Given the description of an element on the screen output the (x, y) to click on. 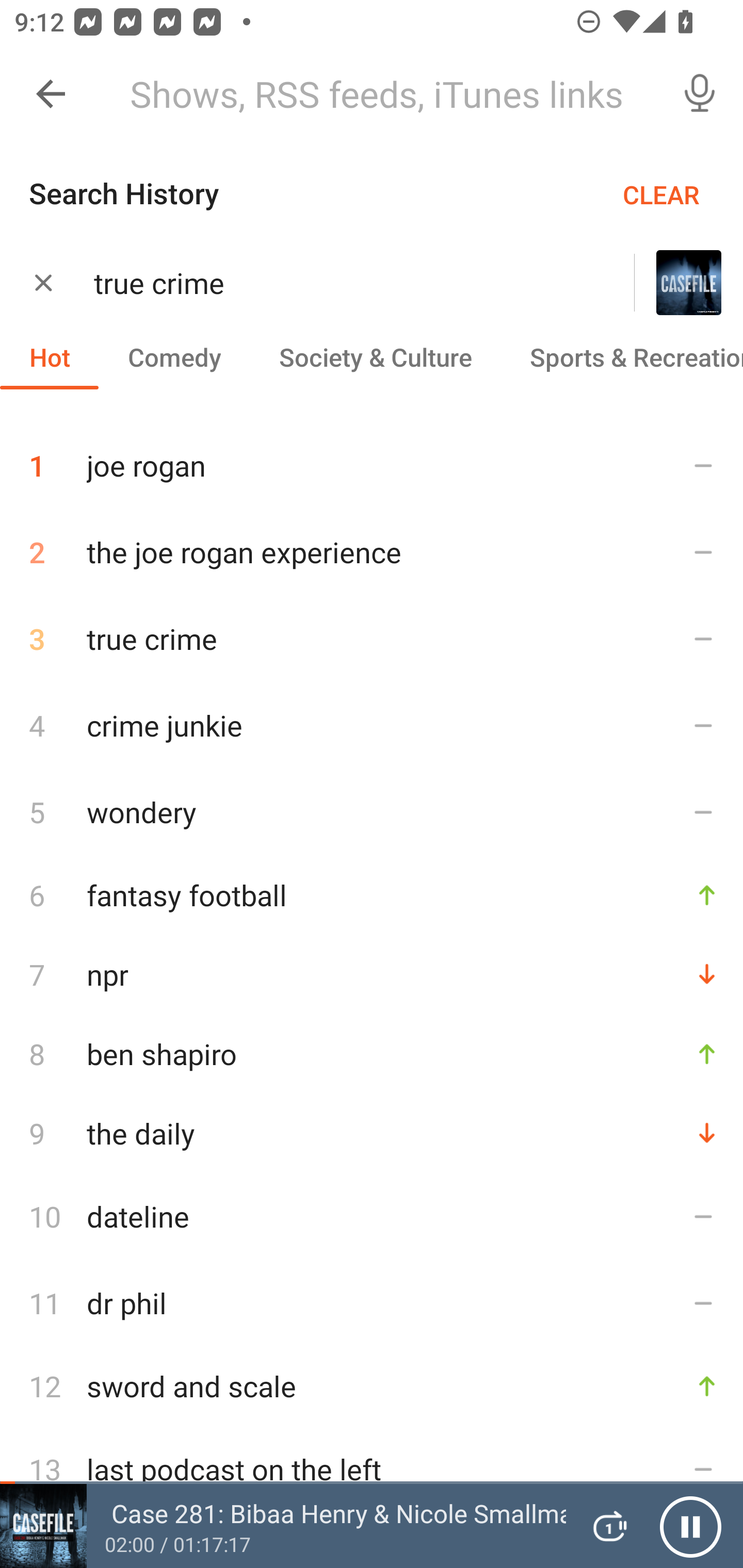
Collapse (50, 93)
Voice Search (699, 93)
Shows, RSS feeds, iTunes links (385, 94)
Search History CLEAR  Clear true crime (371, 249)
CLEAR (660, 194)
true crime (338, 282)
 Clear (43, 282)
Hot (49, 356)
Comedy (173, 356)
Society & Culture (374, 356)
Sports & Recreation (621, 356)
1 joe rogan (371, 457)
2 the joe rogan experience (371, 551)
3 true crime (371, 638)
4 crime junkie (371, 725)
5 wondery (371, 811)
6 fantasy football (371, 894)
7 npr (371, 974)
8 ben shapiro (371, 1053)
9 the daily (371, 1132)
10 dateline (371, 1215)
11 dr phil (371, 1302)
12 sword and scale (371, 1385)
13 last podcast on the left (371, 1468)
Pause (690, 1526)
